Given the description of an element on the screen output the (x, y) to click on. 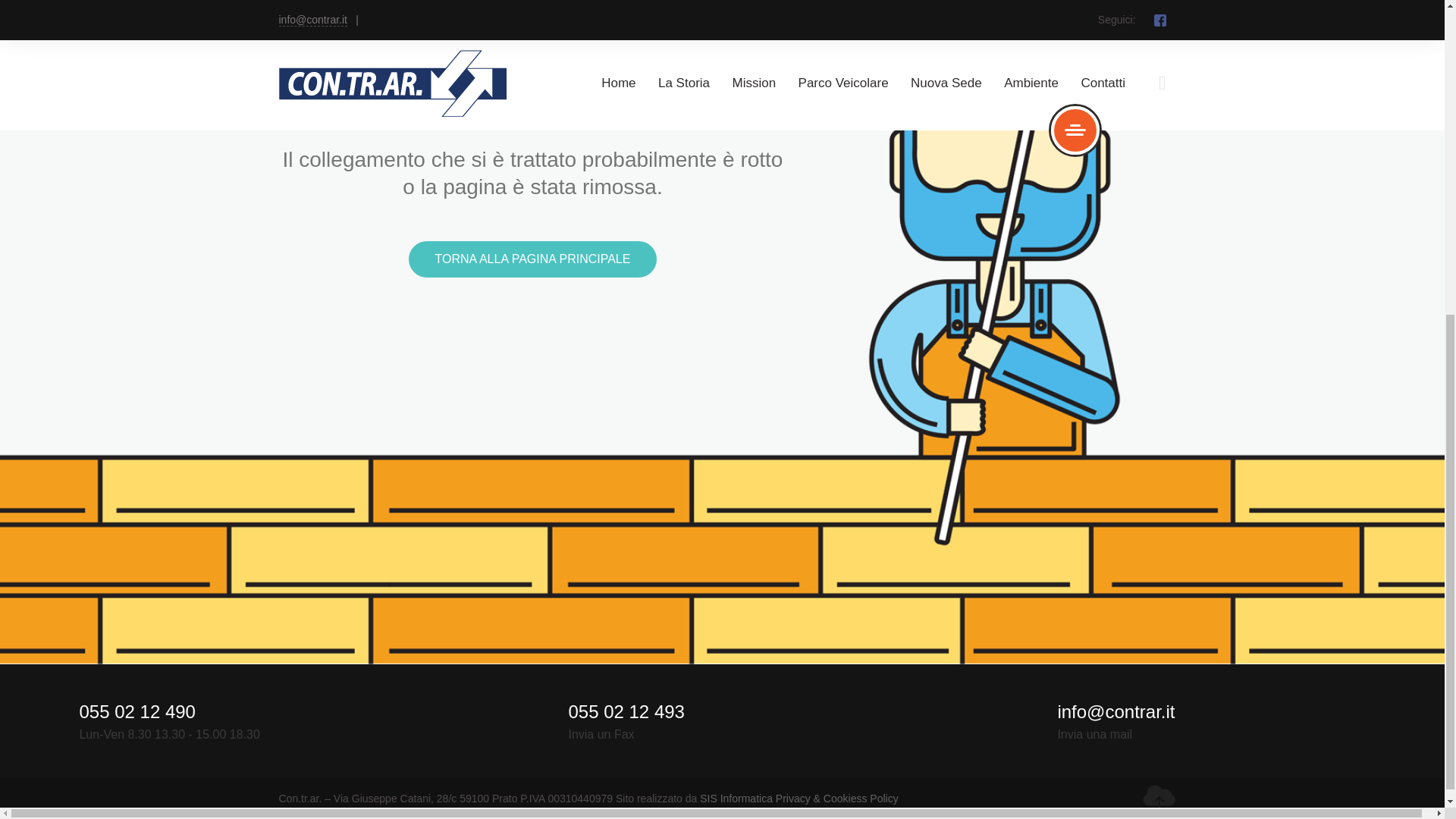
SIS Informatica (736, 798)
TORNA ALLA PAGINA PRINCIPALE (533, 258)
